Given the description of an element on the screen output the (x, y) to click on. 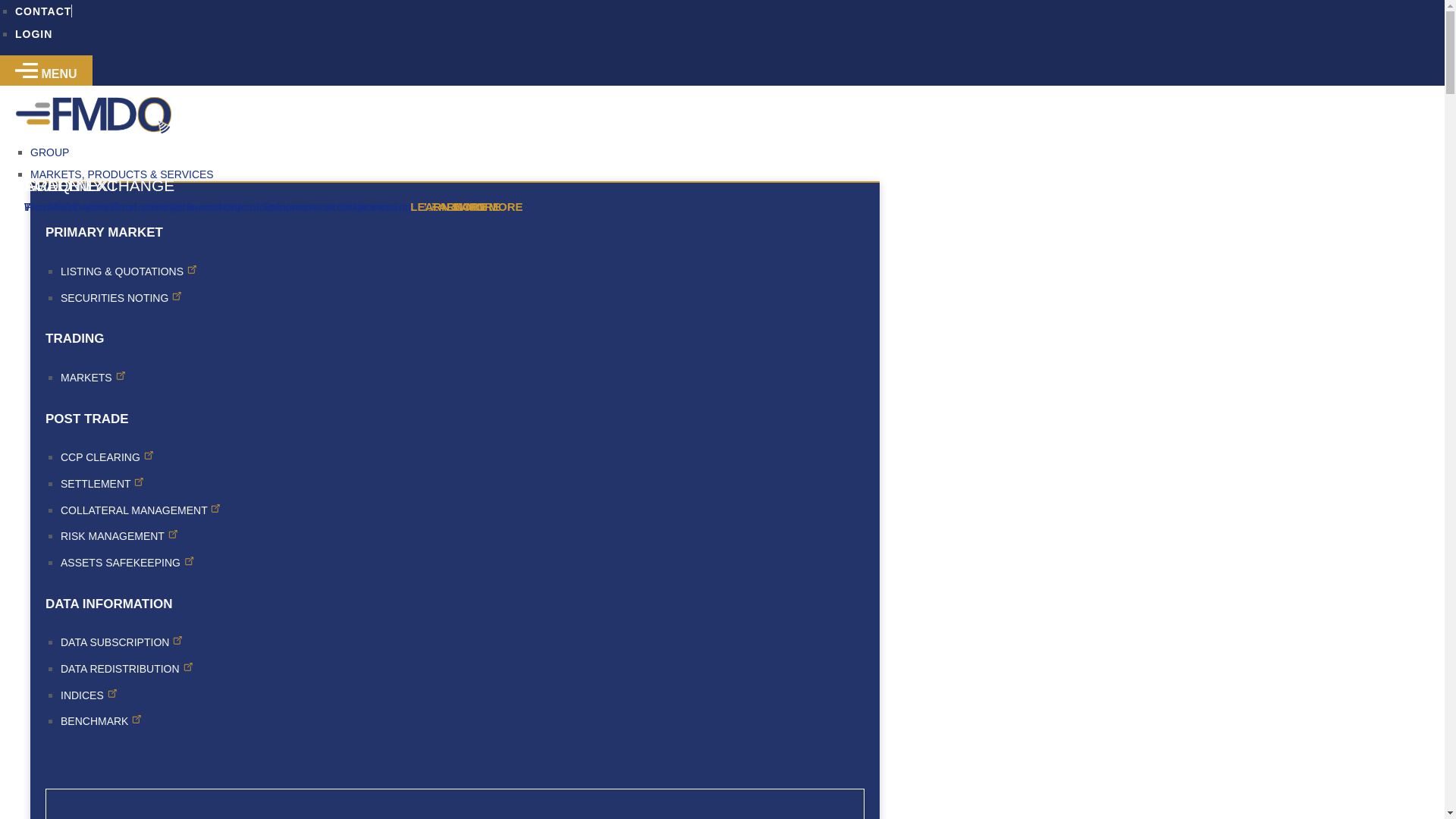
MARKETS (93, 377)
BENCHMARK (101, 720)
LOGIN (33, 33)
MENU (46, 72)
SETTLEMENT (102, 483)
INDICES (89, 695)
RISK MANAGEMENT (119, 535)
ASSETS SAFEKEEPING (128, 562)
COLLATERAL MANAGEMENT (141, 510)
GROUP (454, 152)
DATA REDISTRIBUTION (127, 668)
SECURITIES NOTING (121, 297)
CONTACT (42, 10)
DATA SUBSCRIPTION (122, 642)
CCP CLEARING (107, 457)
